Given the description of an element on the screen output the (x, y) to click on. 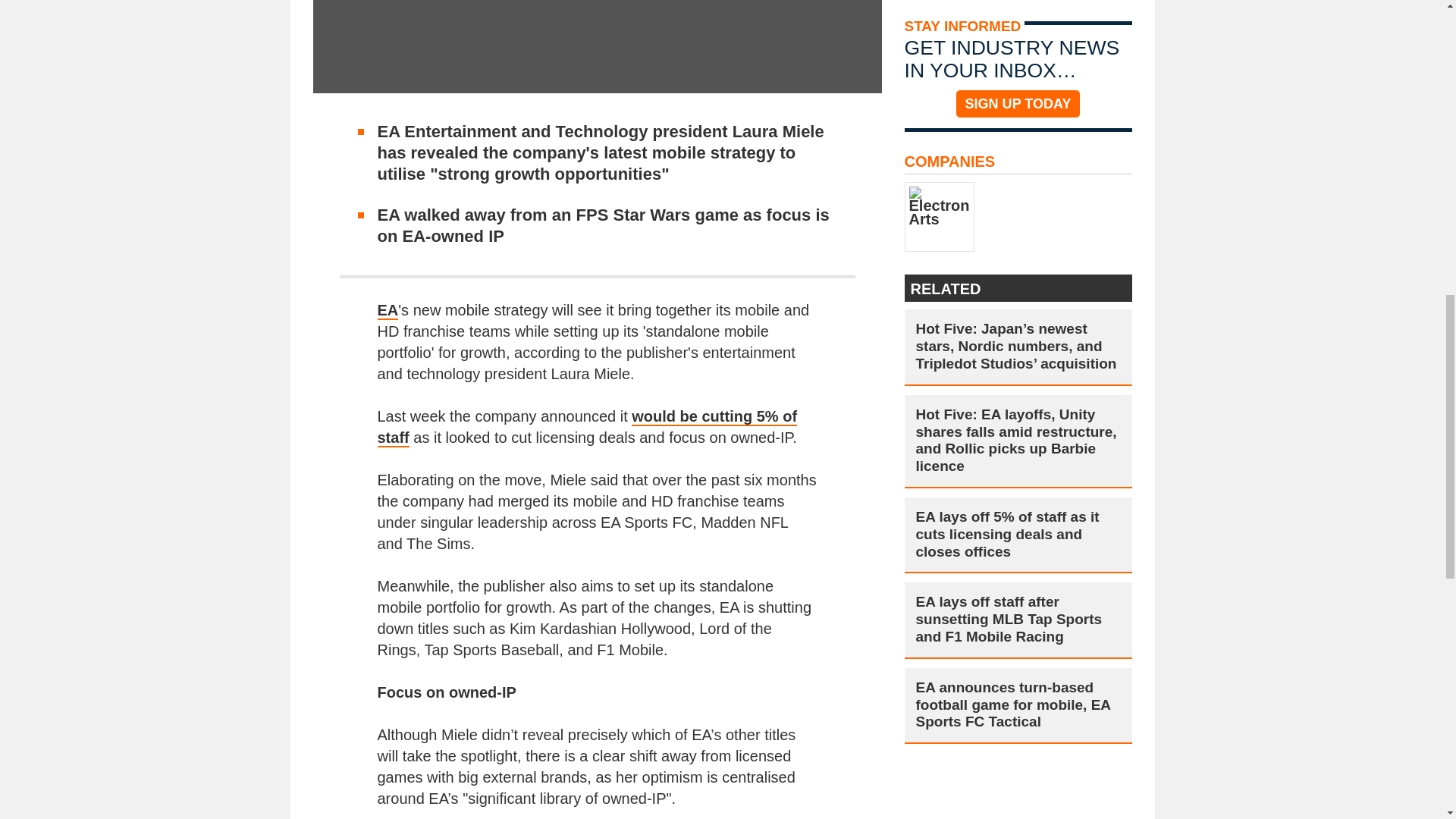
EA (387, 311)
